Given the description of an element on the screen output the (x, y) to click on. 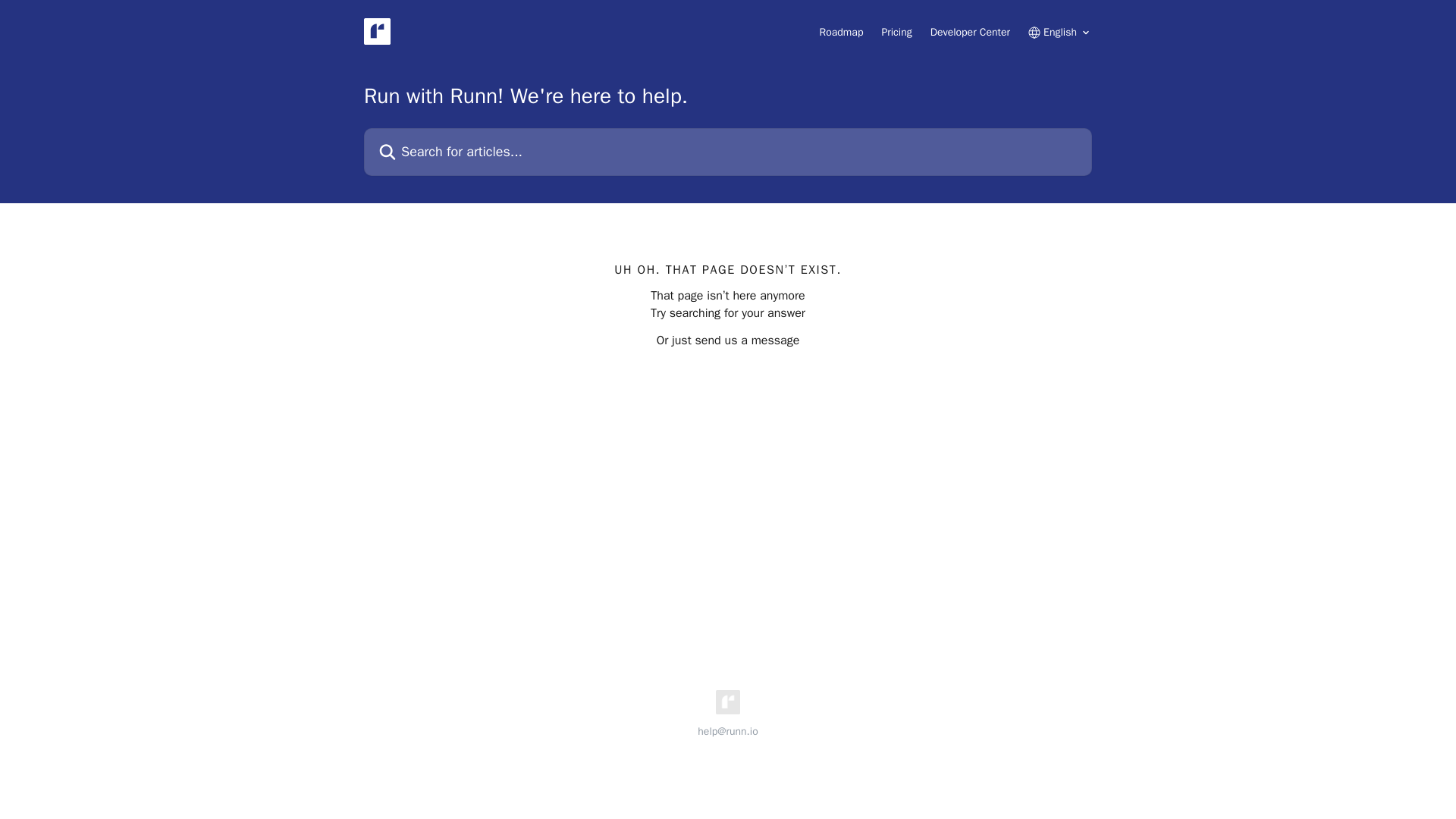
Developer Center (970, 32)
Roadmap (841, 32)
Pricing (895, 32)
